Given the description of an element on the screen output the (x, y) to click on. 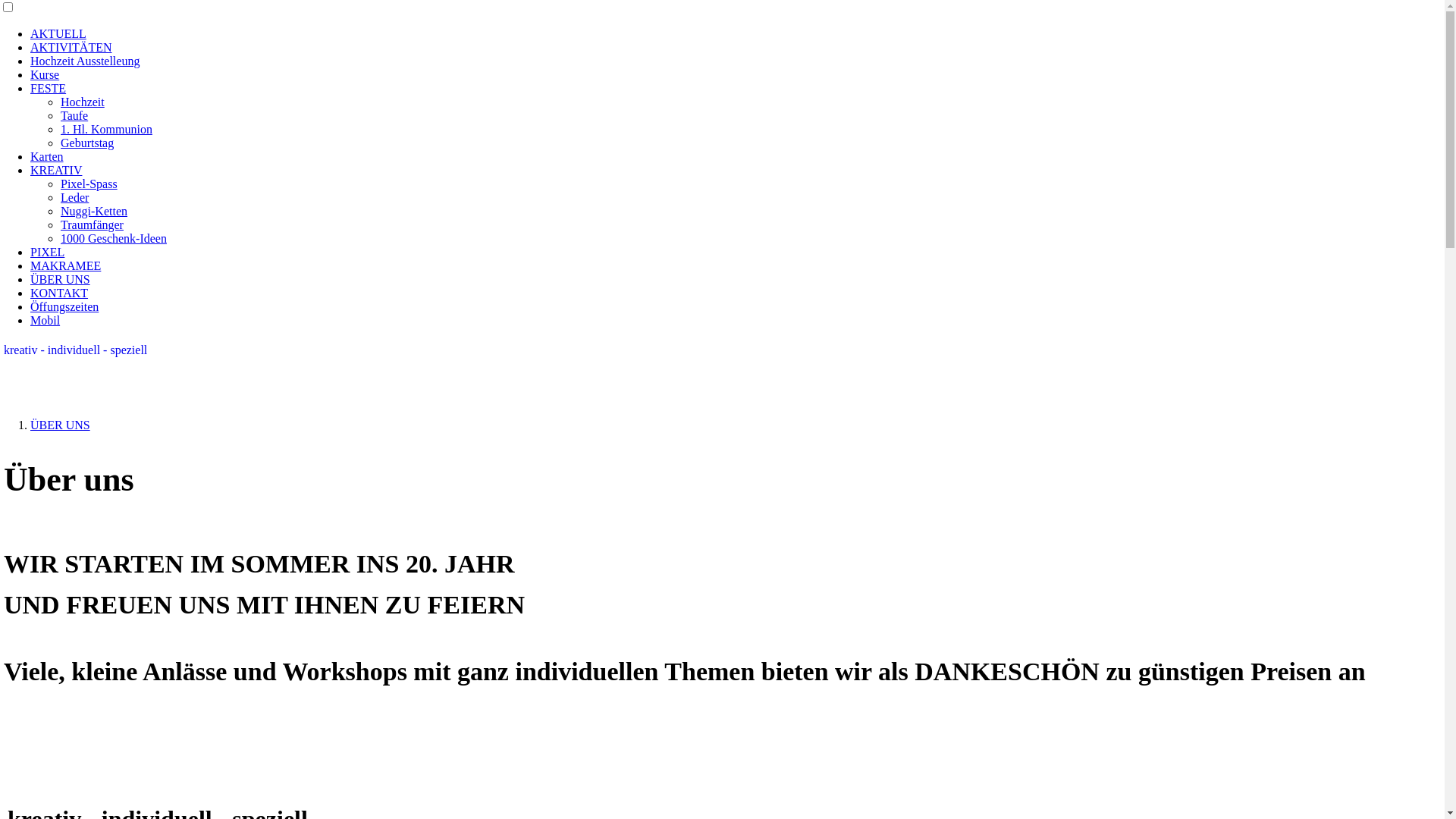
kreativ - individuell - speziell Element type: text (75, 349)
Mobil Element type: text (44, 319)
Kurse Element type: text (44, 74)
FESTE Element type: text (47, 87)
Geburtstag Element type: text (86, 142)
KREATIV Element type: text (55, 169)
Leder Element type: text (74, 197)
Taufe Element type: text (73, 115)
Karten Element type: text (46, 156)
Hochzeit Ausstelleung Element type: text (84, 60)
KONTAKT Element type: text (58, 292)
PIXEL Element type: text (47, 251)
MAKRAMEE Element type: text (65, 265)
AKTUELL Element type: text (58, 33)
Hochzeit Element type: text (82, 101)
Nuggi-Ketten Element type: text (93, 210)
Pixel-Spass Element type: text (88, 183)
1. Hl. Kommunion Element type: text (106, 128)
1000 Geschenk-Ideen Element type: text (113, 238)
